Given the description of an element on the screen output the (x, y) to click on. 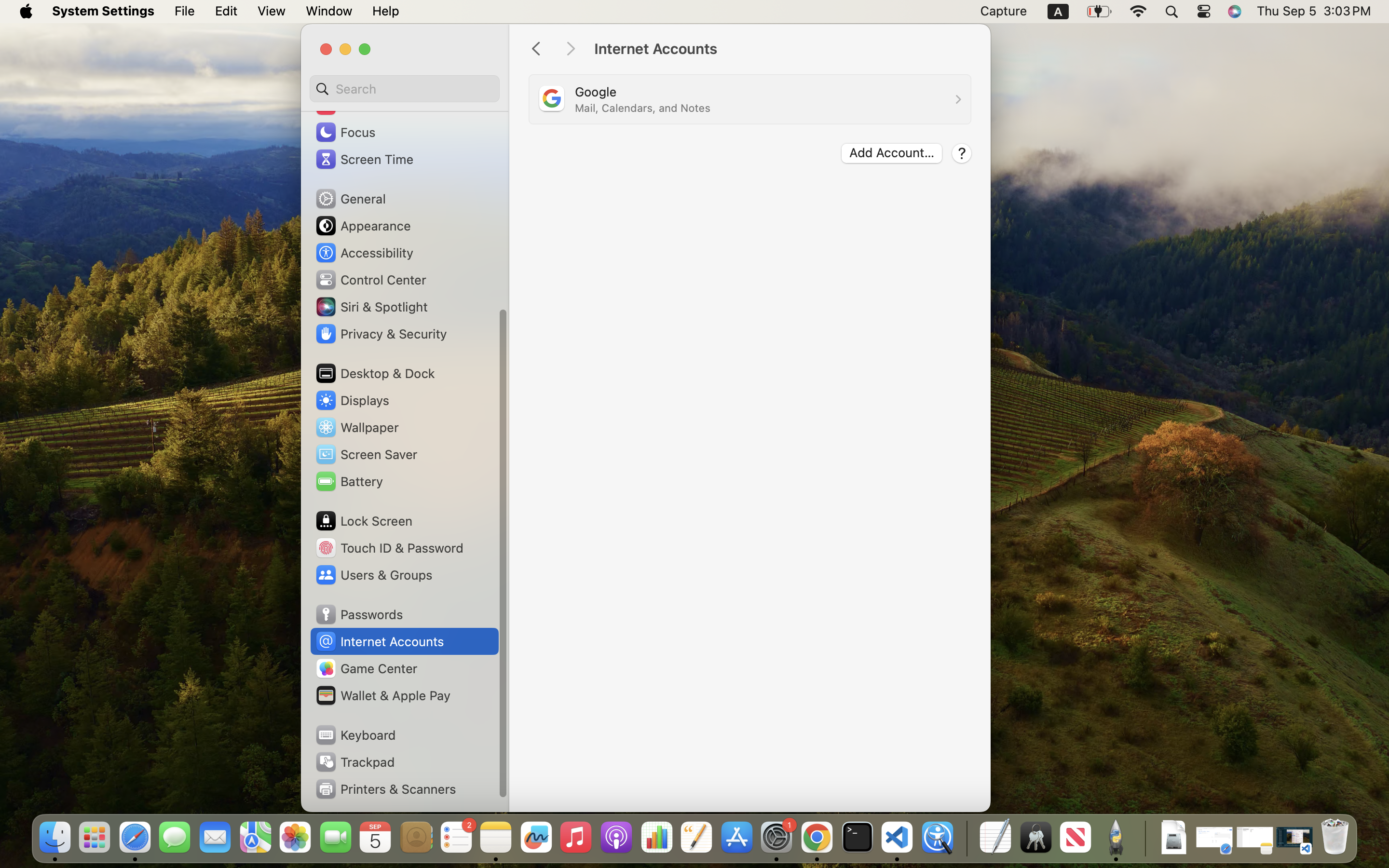
Users & Groups Element type: AXStaticText (373, 574)
Battery Element type: AXStaticText (348, 480)
Screen Time Element type: AXStaticText (363, 158)
Wallpaper Element type: AXStaticText (356, 426)
Desktop & Dock Element type: AXStaticText (374, 372)
